Given the description of an element on the screen output the (x, y) to click on. 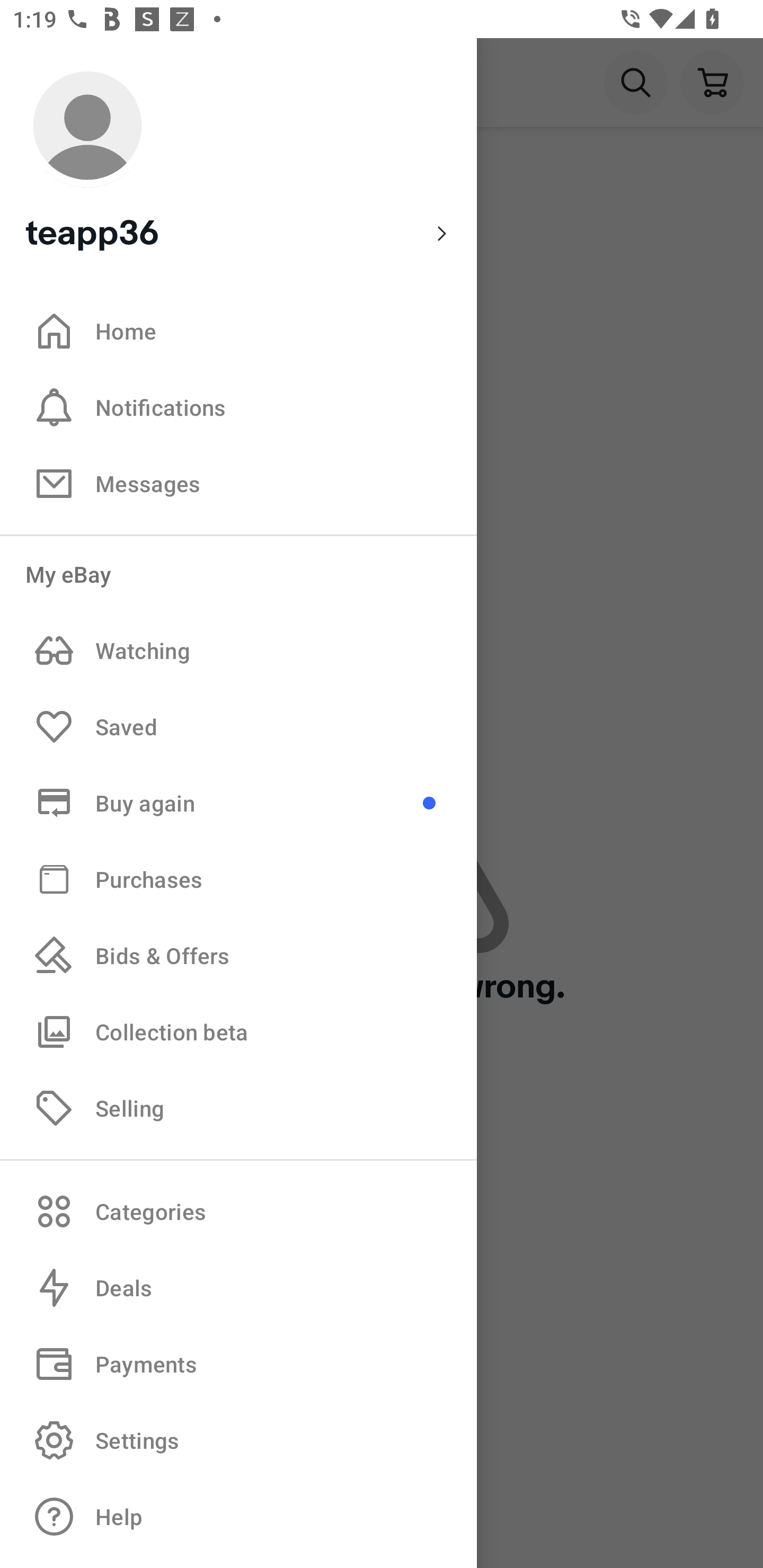
teapp36 (238, 158)
Home (238, 330)
Notifications (238, 406)
Messages (238, 483)
Watching (238, 650)
Saved (238, 726)
Buy again Is new feature (238, 802)
Purchases (238, 878)
Bids & Offers (238, 955)
Collection beta (238, 1031)
Selling (238, 1107)
Categories (238, 1210)
Deals (238, 1287)
Payments (238, 1363)
Settings (238, 1439)
Help (238, 1516)
